Given the description of an element on the screen output the (x, y) to click on. 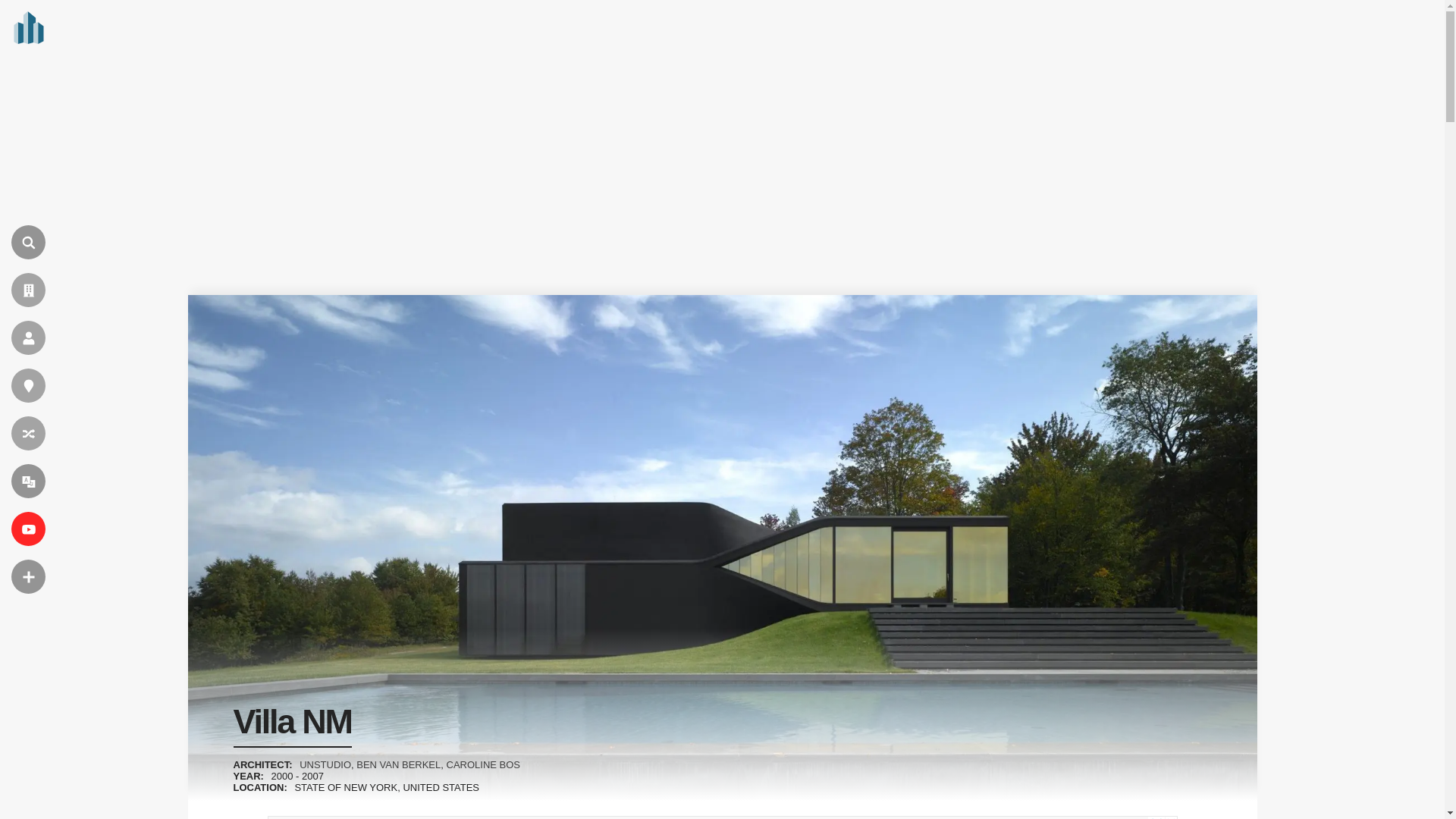
BEN VAN BERKEL (398, 764)
UNSTUDIO (324, 764)
CAROLINE BOS (483, 764)
